Given the description of an element on the screen output the (x, y) to click on. 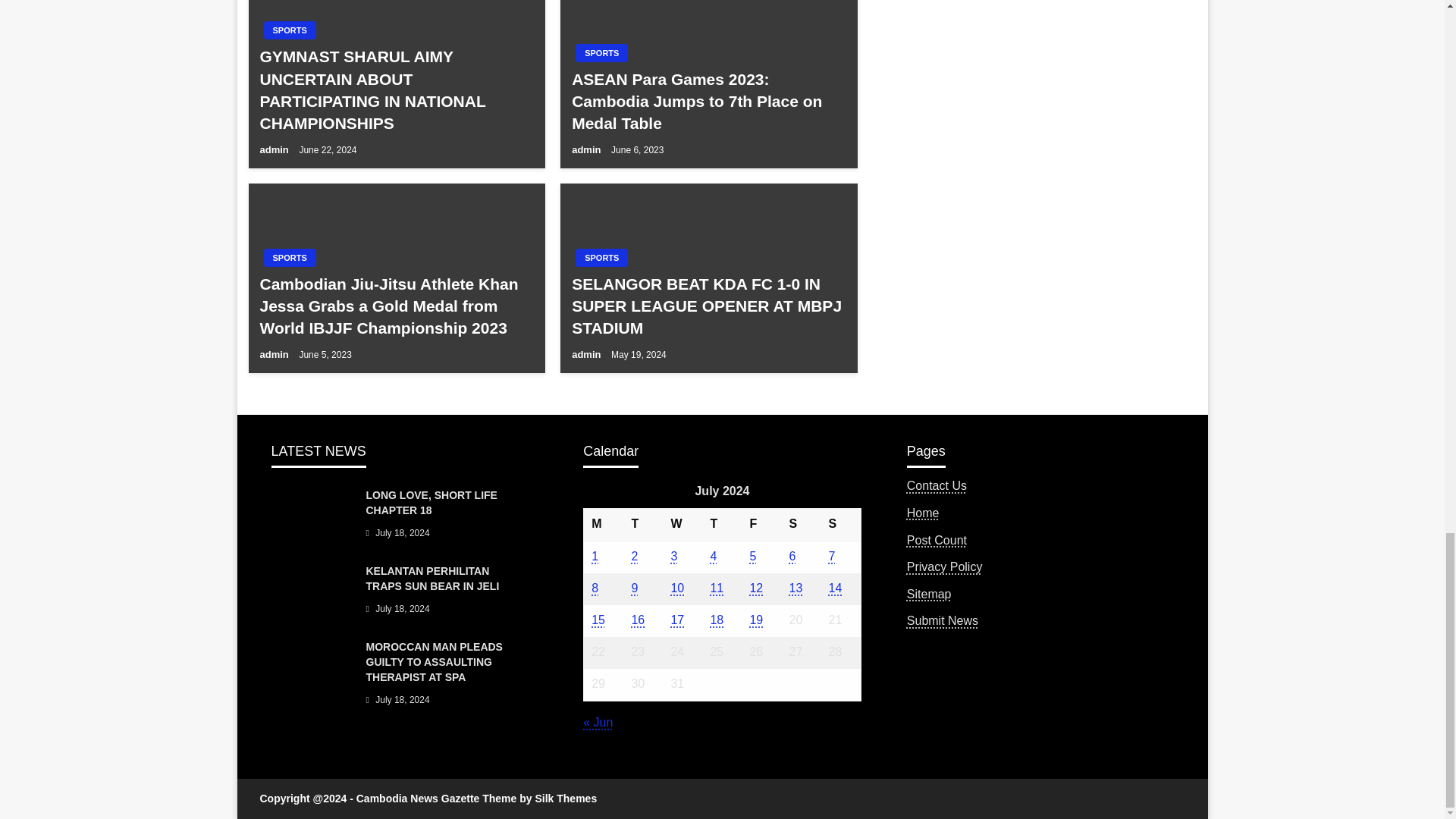
admin (275, 354)
SPORTS (289, 30)
Tuesday (642, 524)
SPORTS (601, 257)
SPORTS (289, 257)
SPORTS (601, 53)
Wednesday (681, 524)
Monday (603, 524)
admin (588, 149)
admin (588, 354)
admin (275, 149)
